Given the description of an element on the screen output the (x, y) to click on. 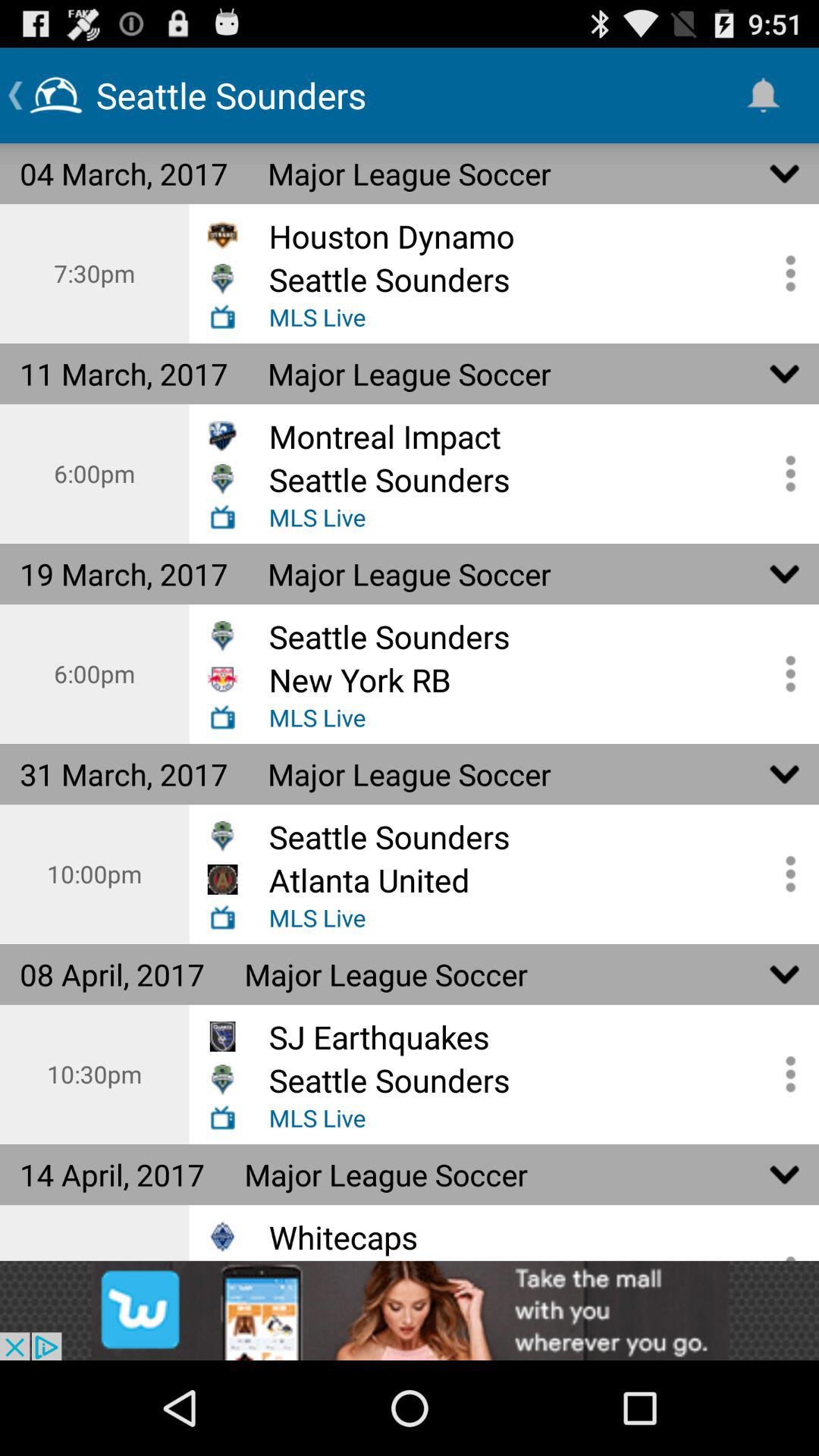
more information (785, 473)
